Given the description of an element on the screen output the (x, y) to click on. 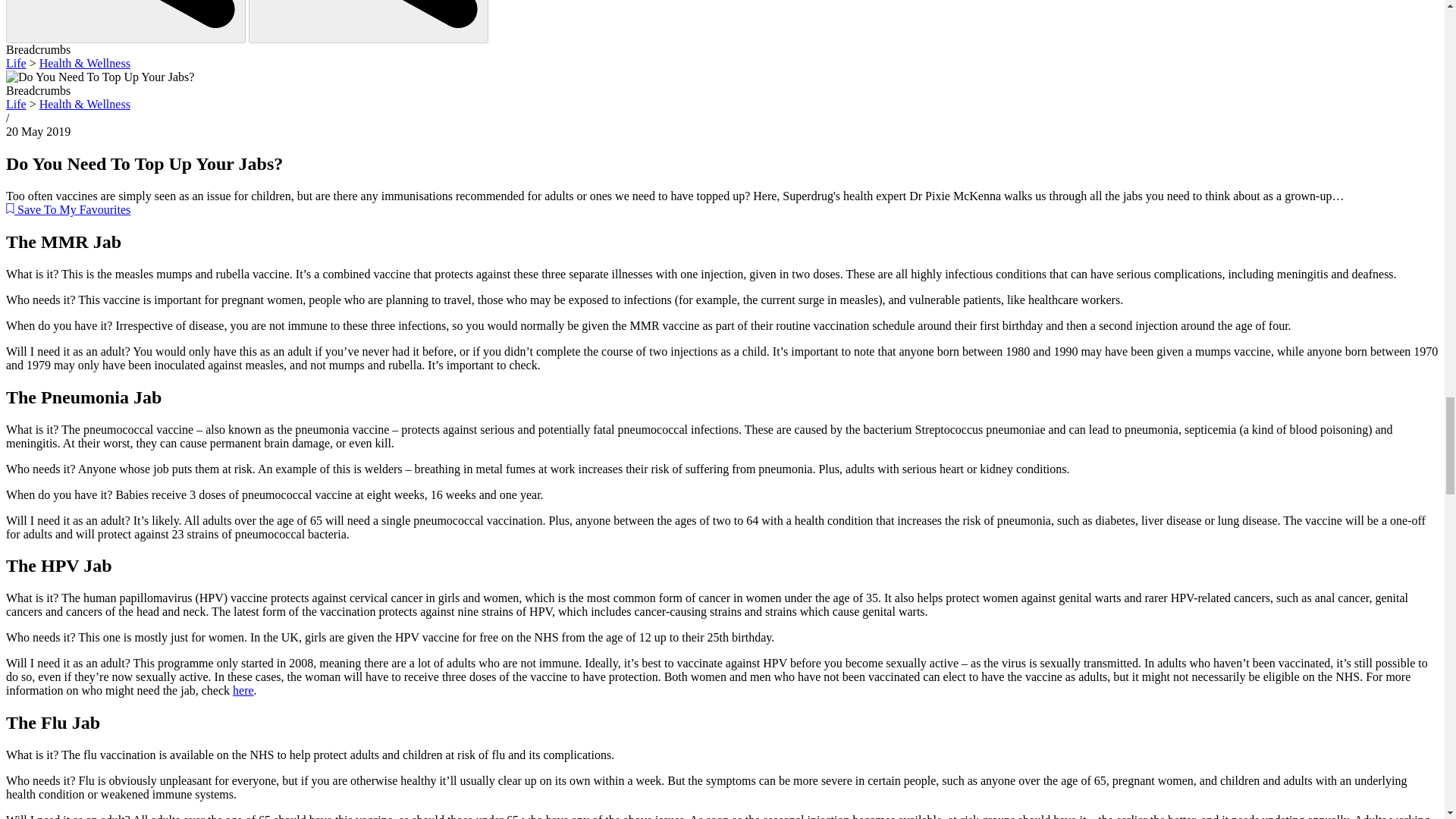
Add article to my favourites (68, 209)
